Given the description of an element on the screen output the (x, y) to click on. 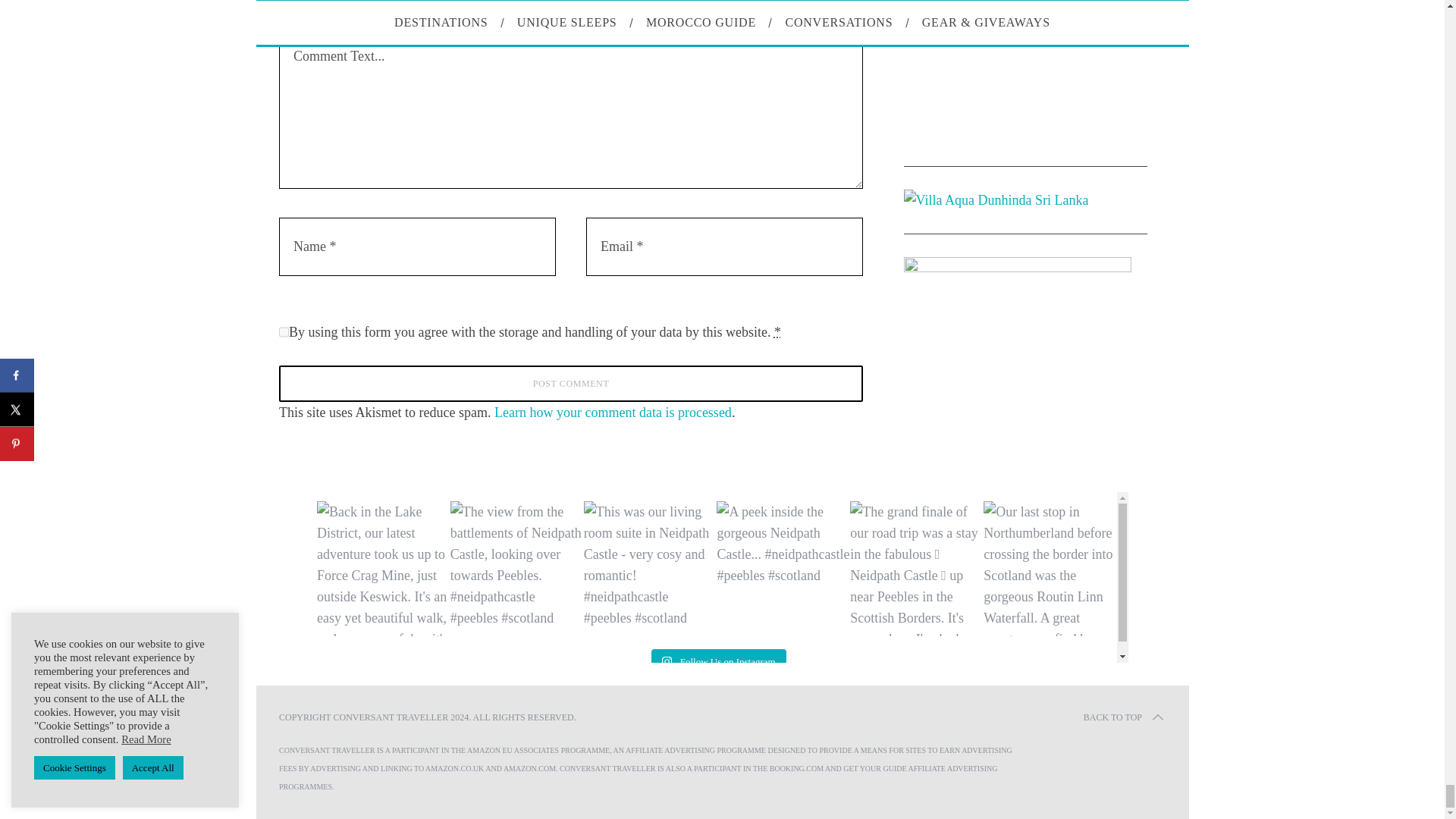
Post Comment (571, 383)
